Given the description of an element on the screen output the (x, y) to click on. 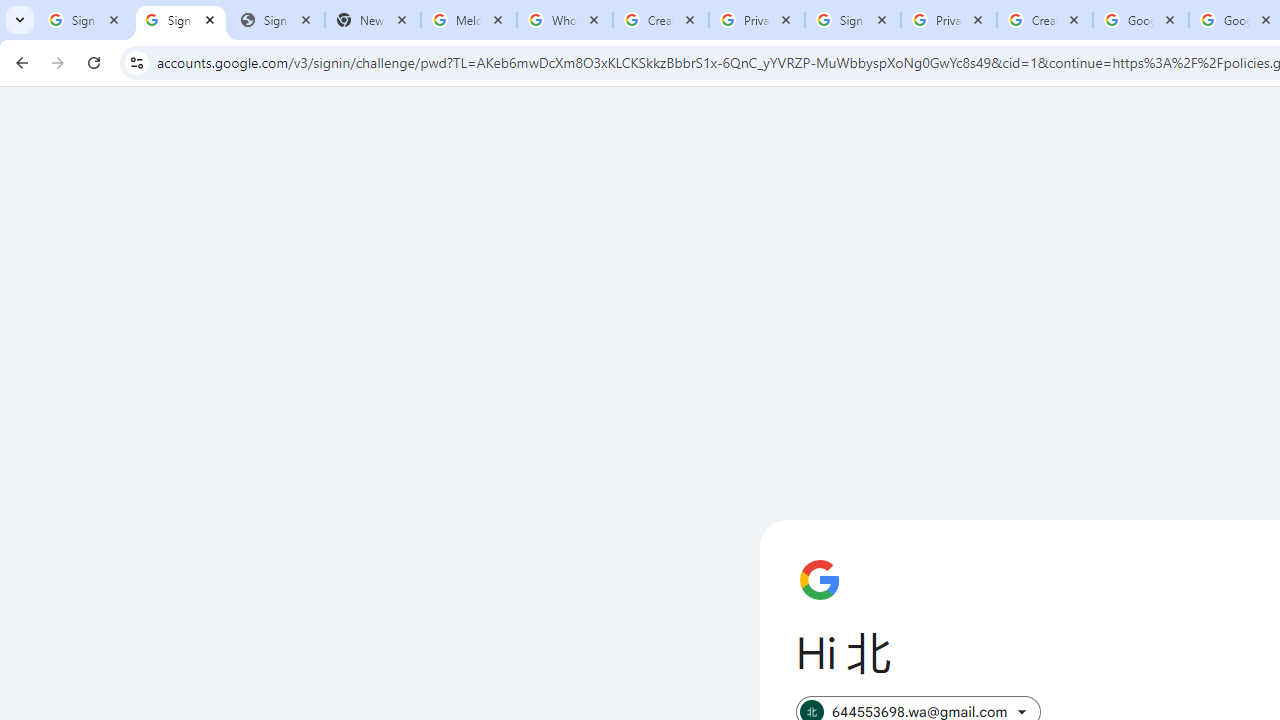
Create your Google Account (1045, 20)
Create your Google Account (661, 20)
Sign in - Google Accounts (853, 20)
